Given the description of an element on the screen output the (x, y) to click on. 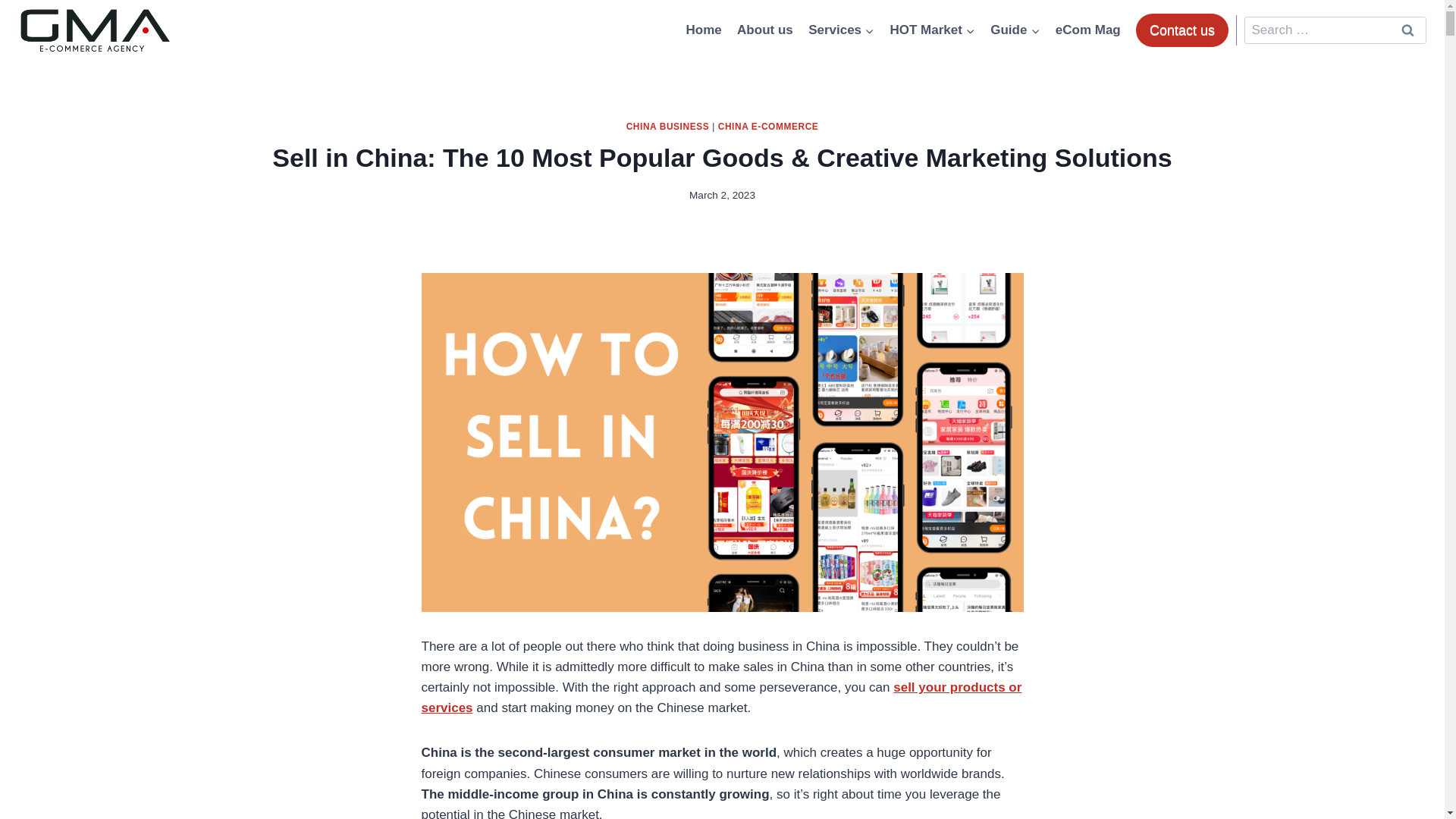
About us (764, 30)
Search (1407, 29)
Search (1407, 29)
HOT Market (932, 30)
Home (703, 30)
Guide (1015, 30)
Search (1407, 29)
Services (841, 30)
eCom Mag (1088, 30)
Contact us (1181, 29)
